Given the description of an element on the screen output the (x, y) to click on. 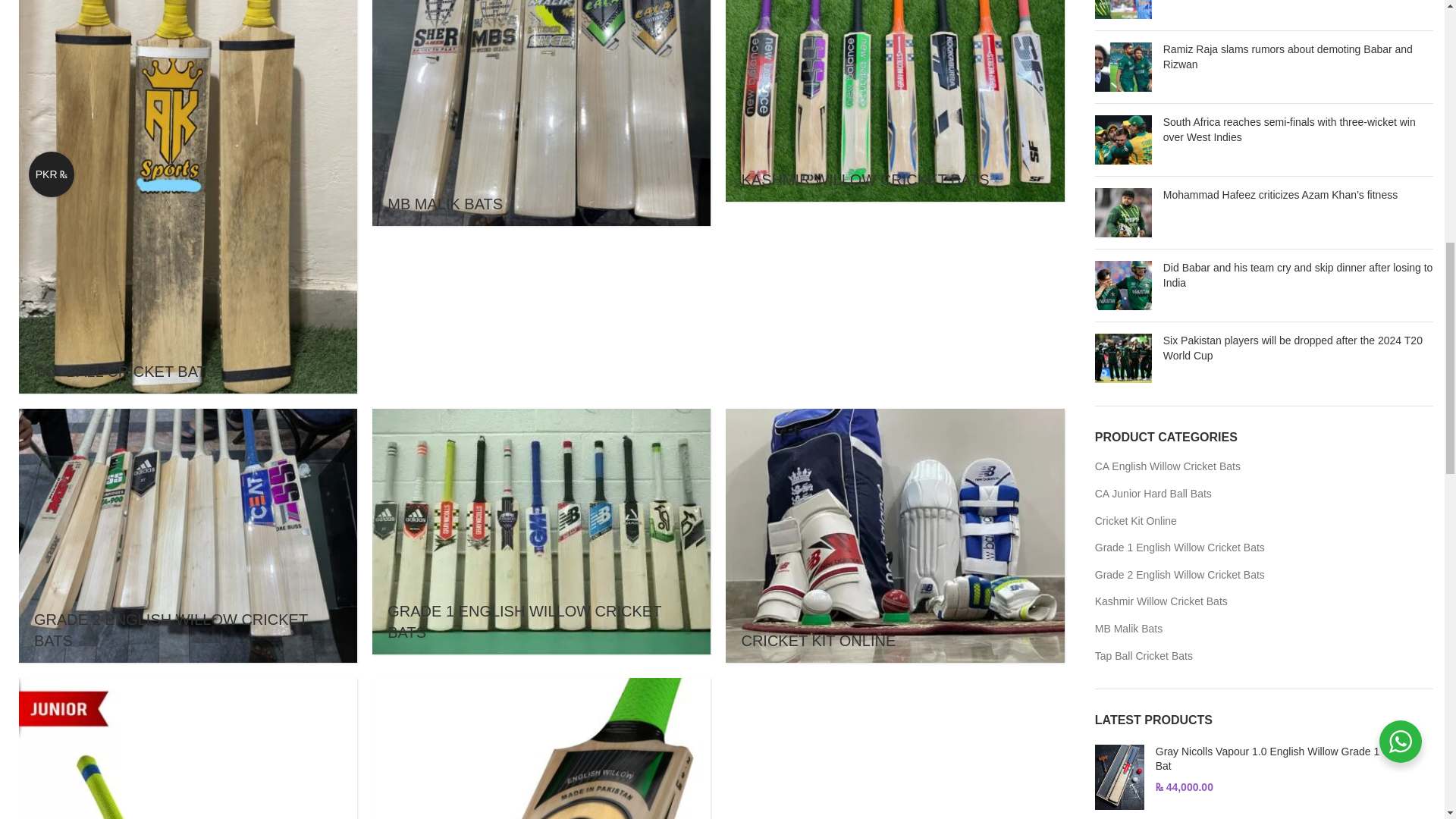
All Categories (541, 113)
Ramiz Raja (1122, 66)
south africs (1122, 139)
All Categories (541, 748)
All Categories (541, 531)
All Categories (894, 101)
David Lloyd claims India-Pakistan ICC matches are rigged (1122, 9)
All Categories (894, 535)
Mohammad Hafeez (1122, 212)
All Categories (187, 535)
All Categories (187, 748)
Pakistan vs. India (1122, 285)
